Given the description of an element on the screen output the (x, y) to click on. 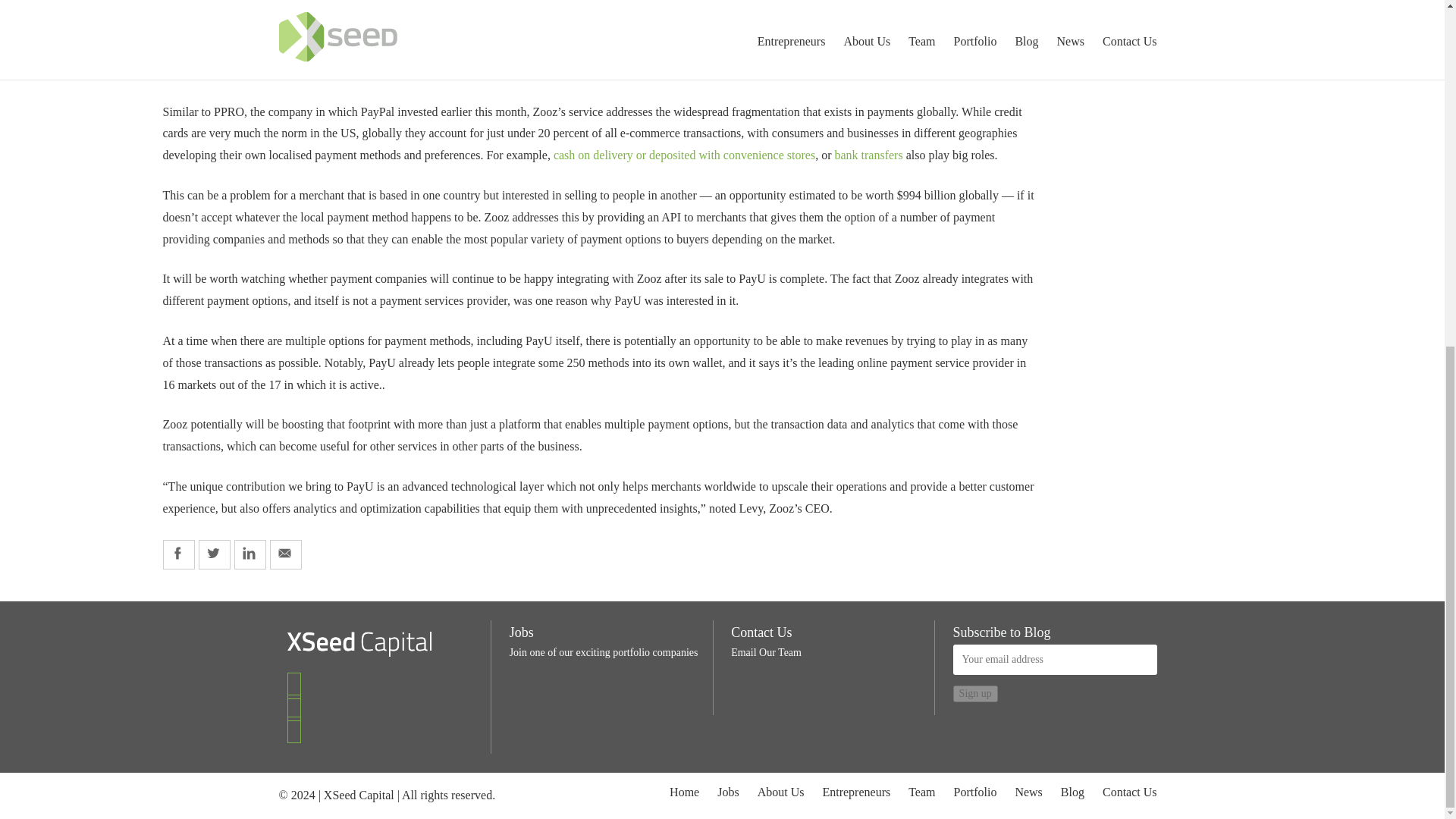
Sign up (975, 693)
Zooz (174, 49)
Contact Us (761, 631)
Join one of our exciting portfolio companies (603, 652)
Email Our Team (766, 652)
bank transfers (868, 154)
Sign up (975, 693)
Jobs (521, 631)
cash on delivery or deposited with convenience stores (684, 154)
